Given the description of an element on the screen output the (x, y) to click on. 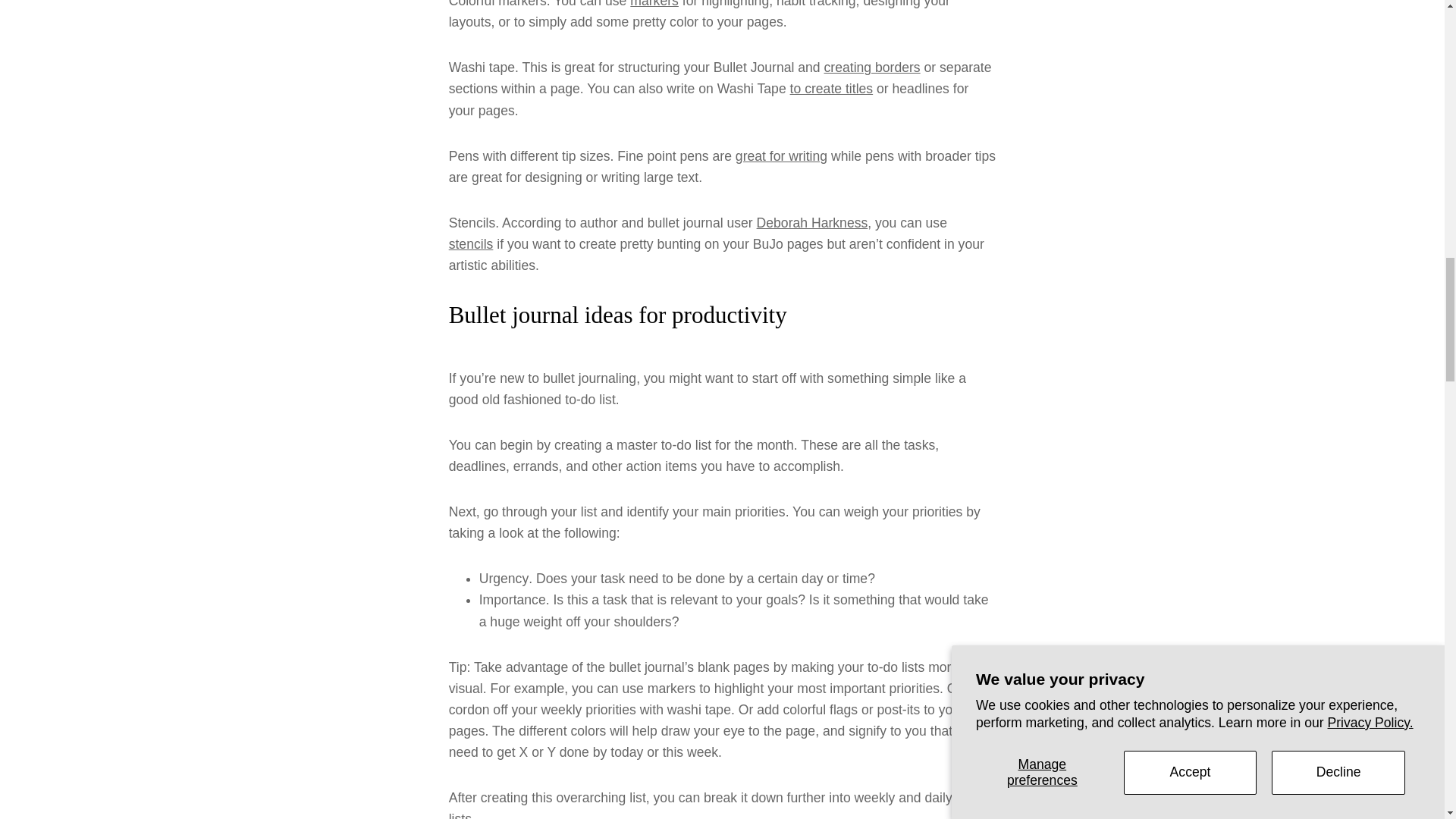
25 Genius Bullet Journal Washi Tape Ideas (831, 88)
Zebra Sarasa Grand Retractable Gel Pen (781, 155)
how i bujo (812, 222)
washi tapes (872, 67)
